Given the description of an element on the screen output the (x, y) to click on. 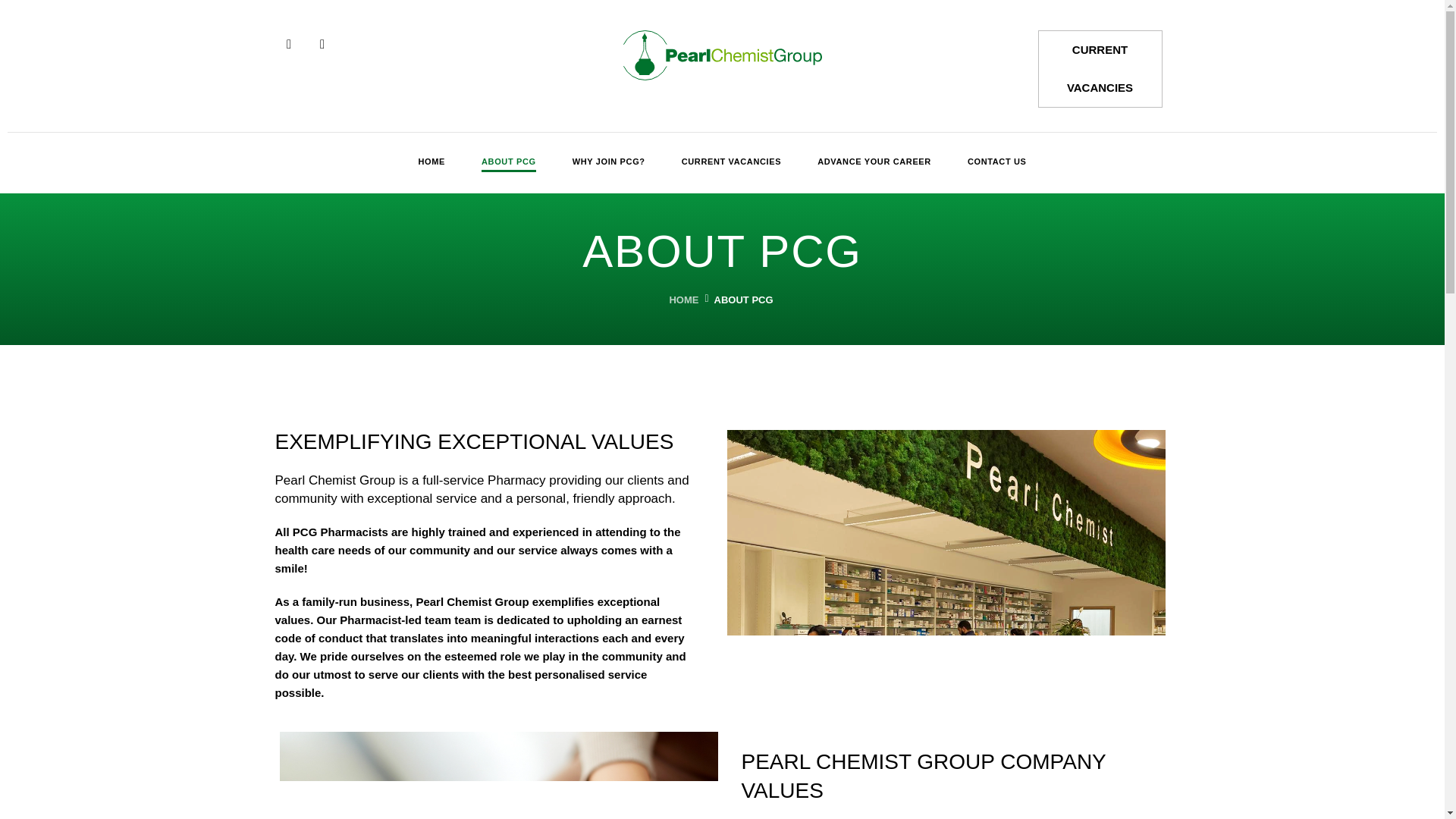
ADVANCE YOUR CAREER (873, 161)
HOME (681, 298)
CURRENT VACANCIES (731, 161)
Skip to content (11, 31)
WHY JOIN PCG? (608, 161)
CURRENT VACANCIES (1098, 68)
HOME (431, 161)
CONTACT US (997, 161)
ABOUT PCG (508, 161)
